Given the description of an element on the screen output the (x, y) to click on. 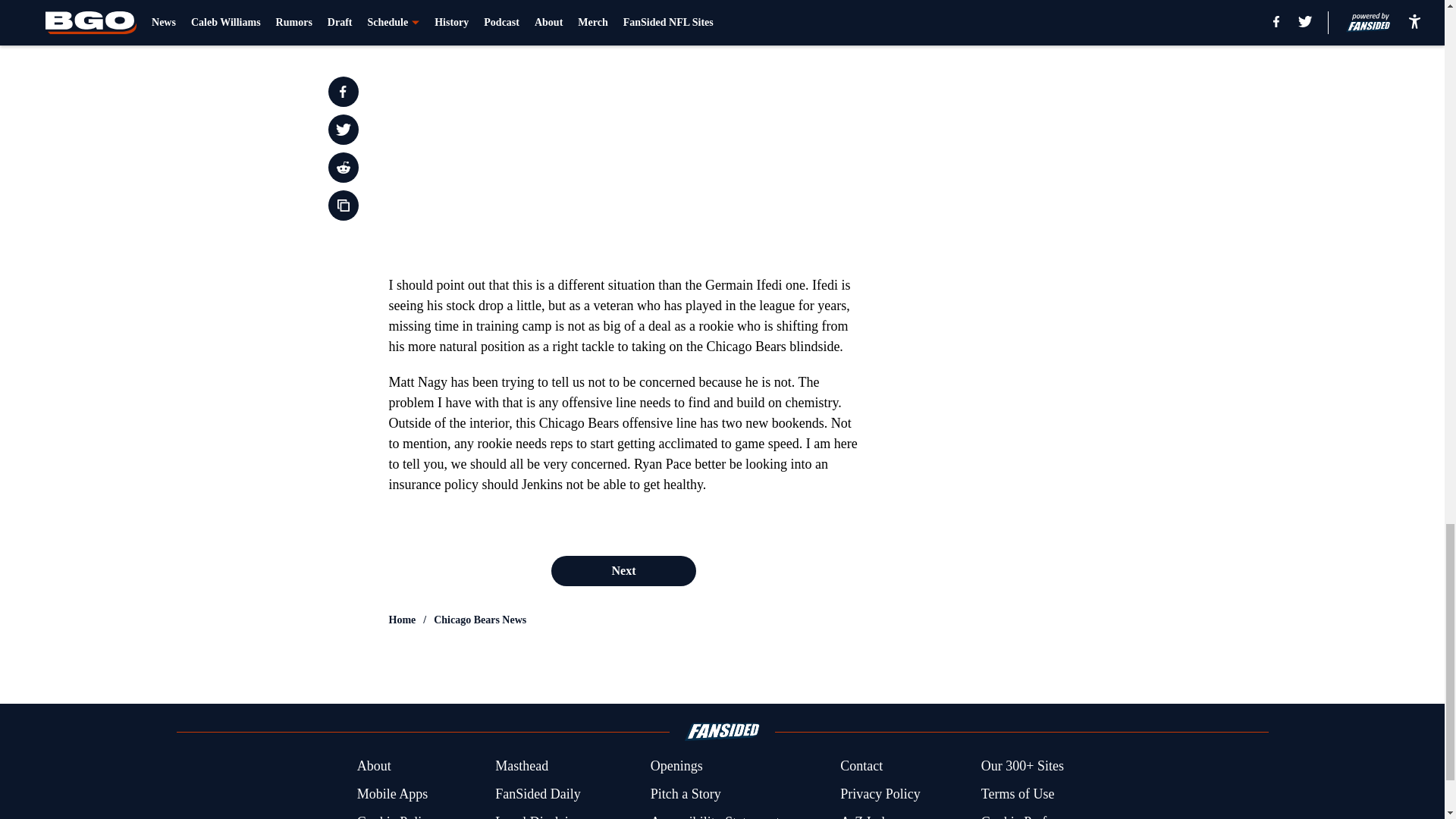
Pitch a Story (685, 793)
Chicago Bears News (479, 620)
Mobile Apps (392, 793)
Contact (861, 765)
Home (401, 620)
Openings (676, 765)
Next (622, 571)
About (373, 765)
Masthead (521, 765)
FanSided Daily (537, 793)
